Given the description of an element on the screen output the (x, y) to click on. 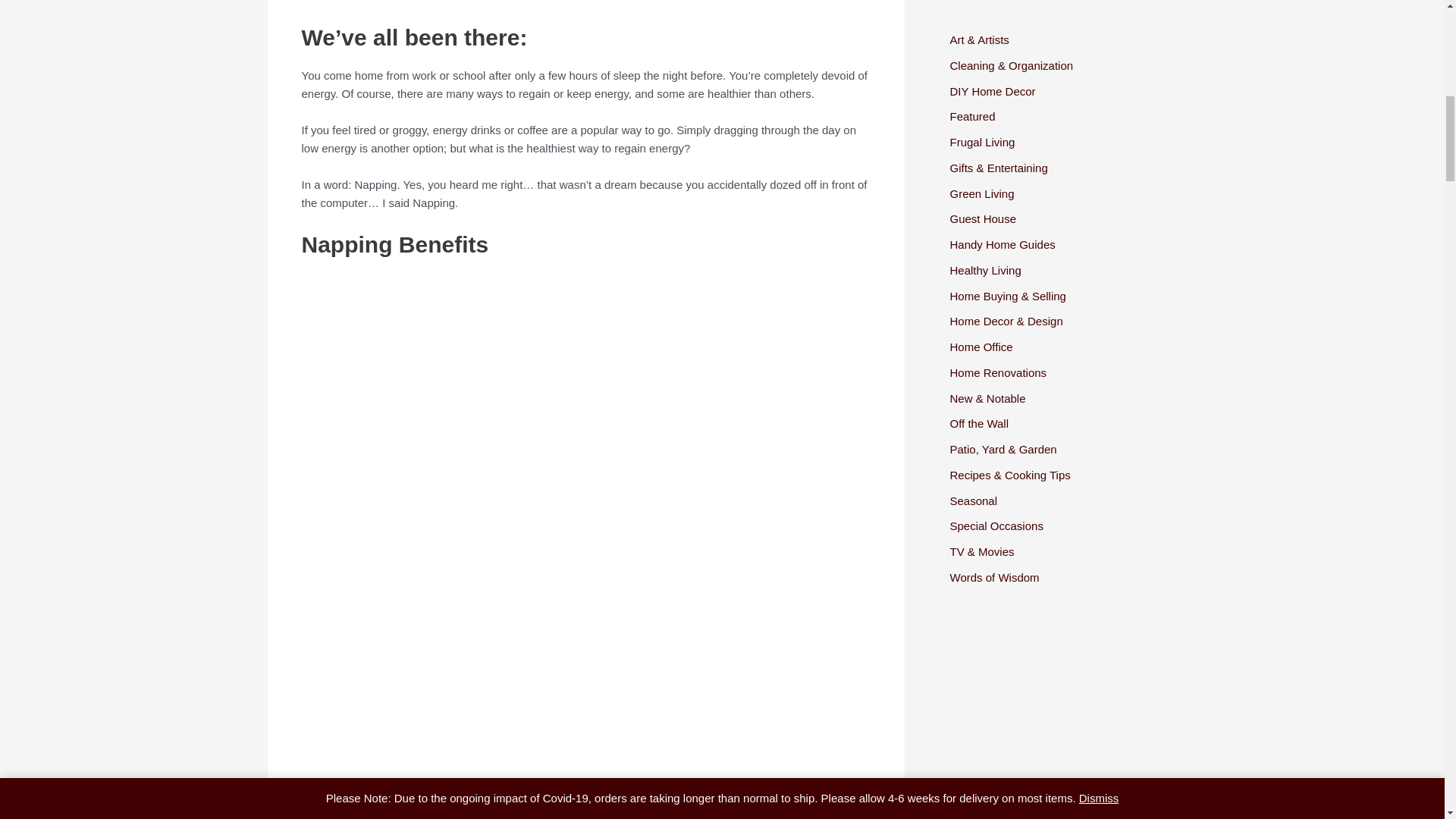
Featured (971, 115)
DIY Home Decor (992, 91)
